Given the description of an element on the screen output the (x, y) to click on. 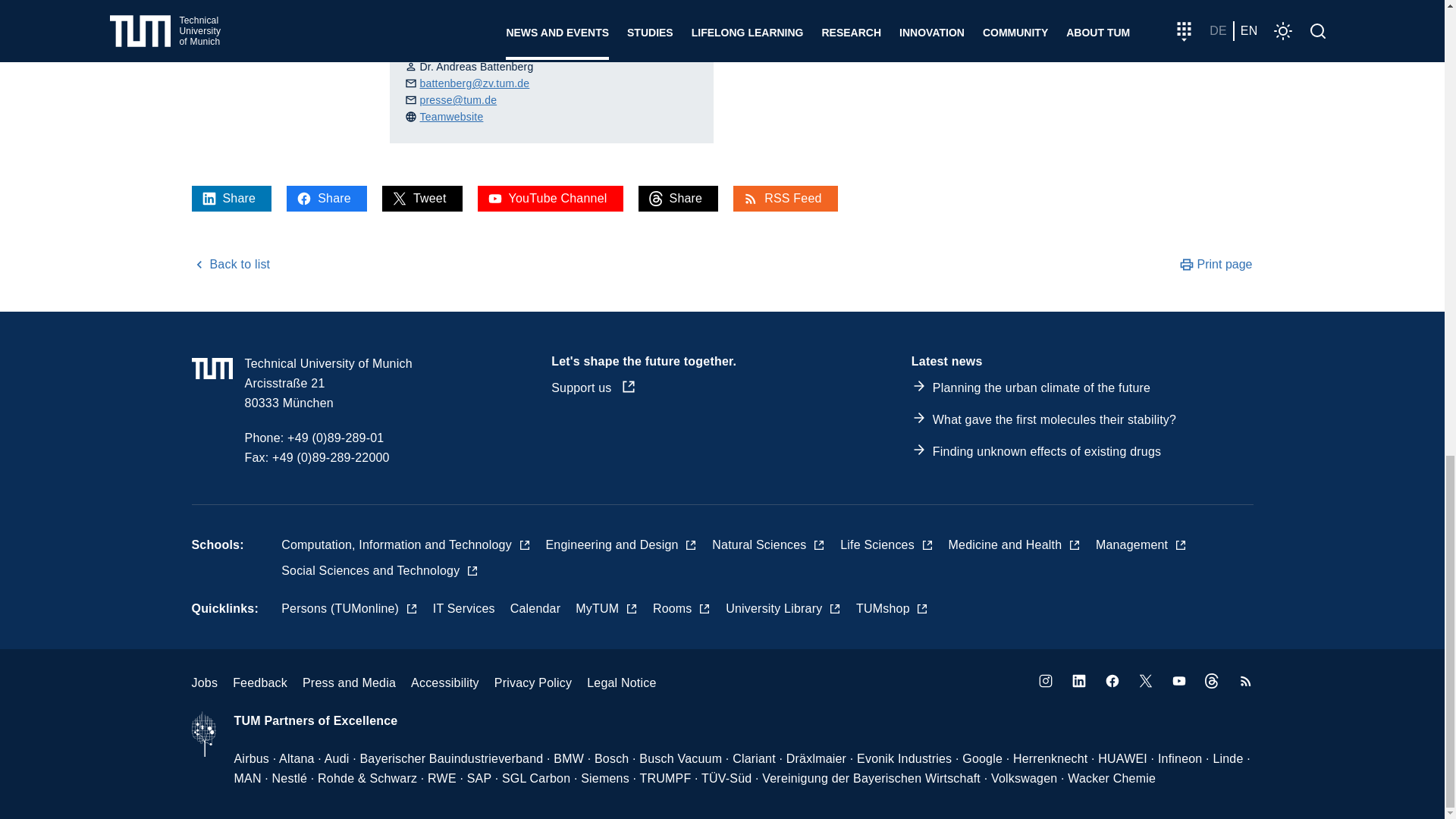
Planning the urban climate of the future (1041, 387)
Finding unknown effects of existing drugs (1046, 451)
What gave the first molecules their stability? (1054, 419)
